Given the description of an element on the screen output the (x, y) to click on. 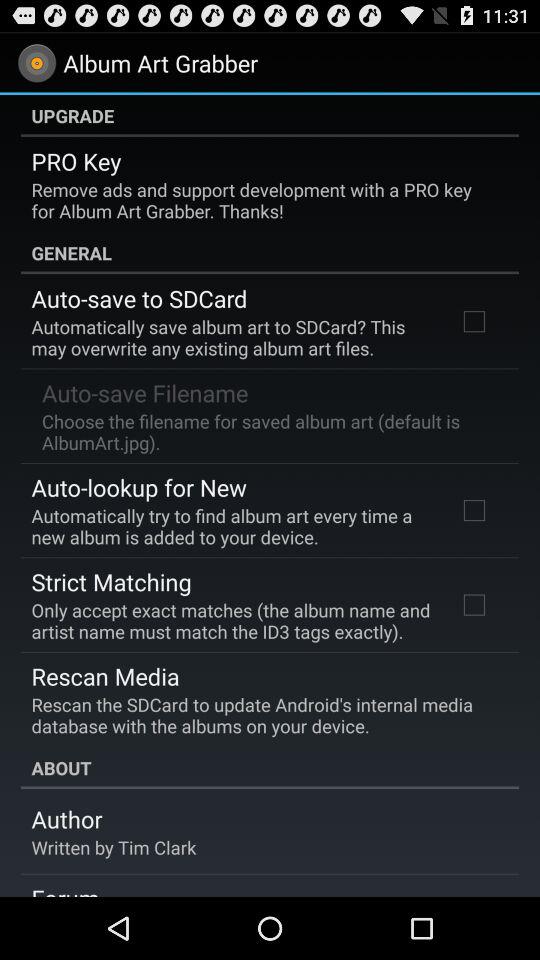
turn off the forum app (65, 889)
